Given the description of an element on the screen output the (x, y) to click on. 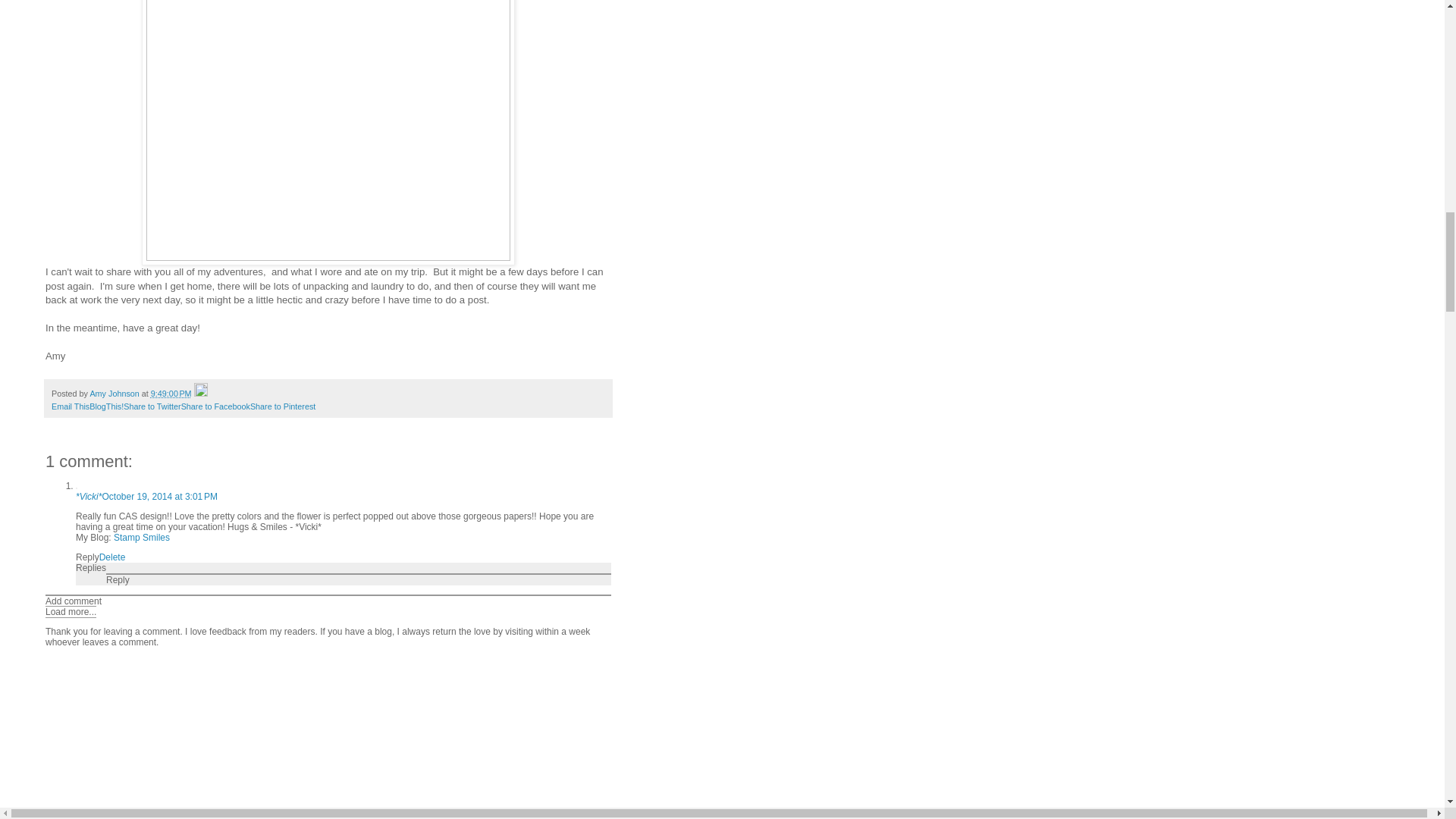
BlogThis! (105, 406)
author profile (114, 393)
Share to Facebook (215, 406)
Share to Pinterest (282, 406)
Add comment (73, 601)
Email This (69, 406)
Share to Twitter (151, 406)
Edit Post (200, 393)
permanent link (171, 393)
Share to Twitter (151, 406)
Stamp Smiles (141, 537)
Delete (112, 557)
Share to Facebook (215, 406)
Share to Pinterest (282, 406)
